Given the description of an element on the screen output the (x, y) to click on. 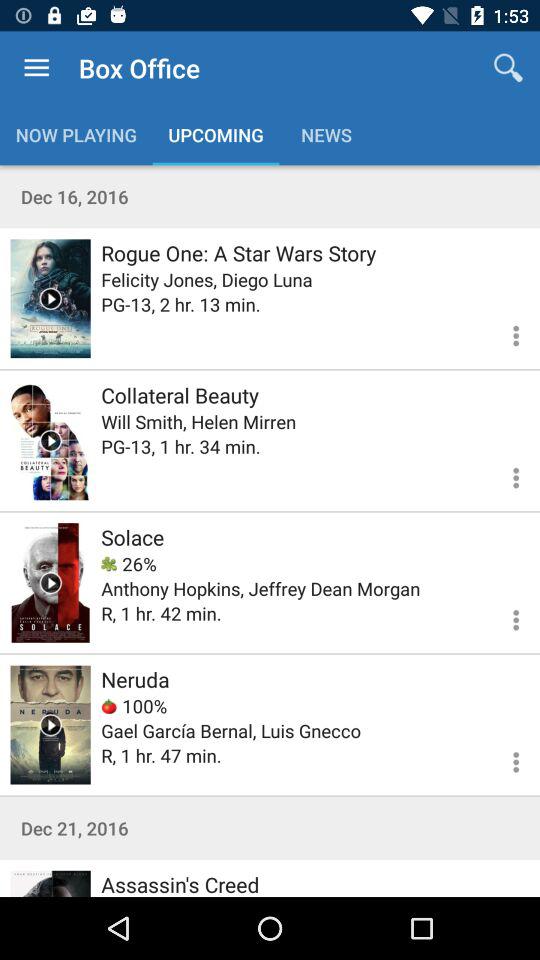
view neruda (50, 724)
